Given the description of an element on the screen output the (x, y) to click on. 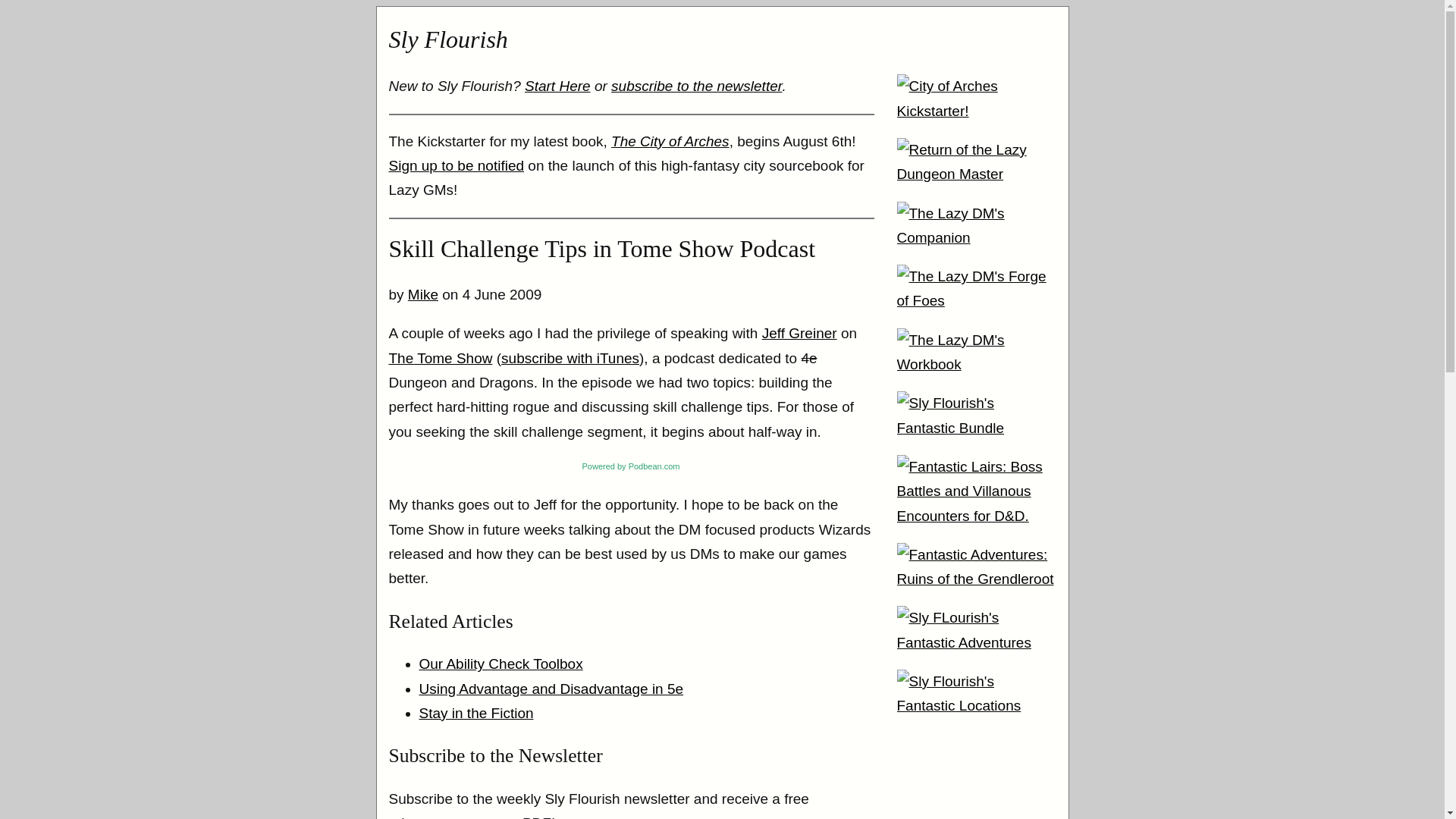
Start Here (557, 85)
Jeff Greiner (799, 333)
The City of Arches (670, 141)
Sign up to be notified (456, 165)
The Tome Show (440, 358)
Mike (422, 294)
subscribe to the newsletter (696, 85)
Sly Flourish (447, 39)
Our Ability Check Toolbox (500, 663)
subscribe with iTunes (569, 358)
Using Advantage and Disadvantage in 5e (550, 688)
Stay in the Fiction (475, 713)
Powered by Podbean.com (614, 465)
